Given the description of an element on the screen output the (x, y) to click on. 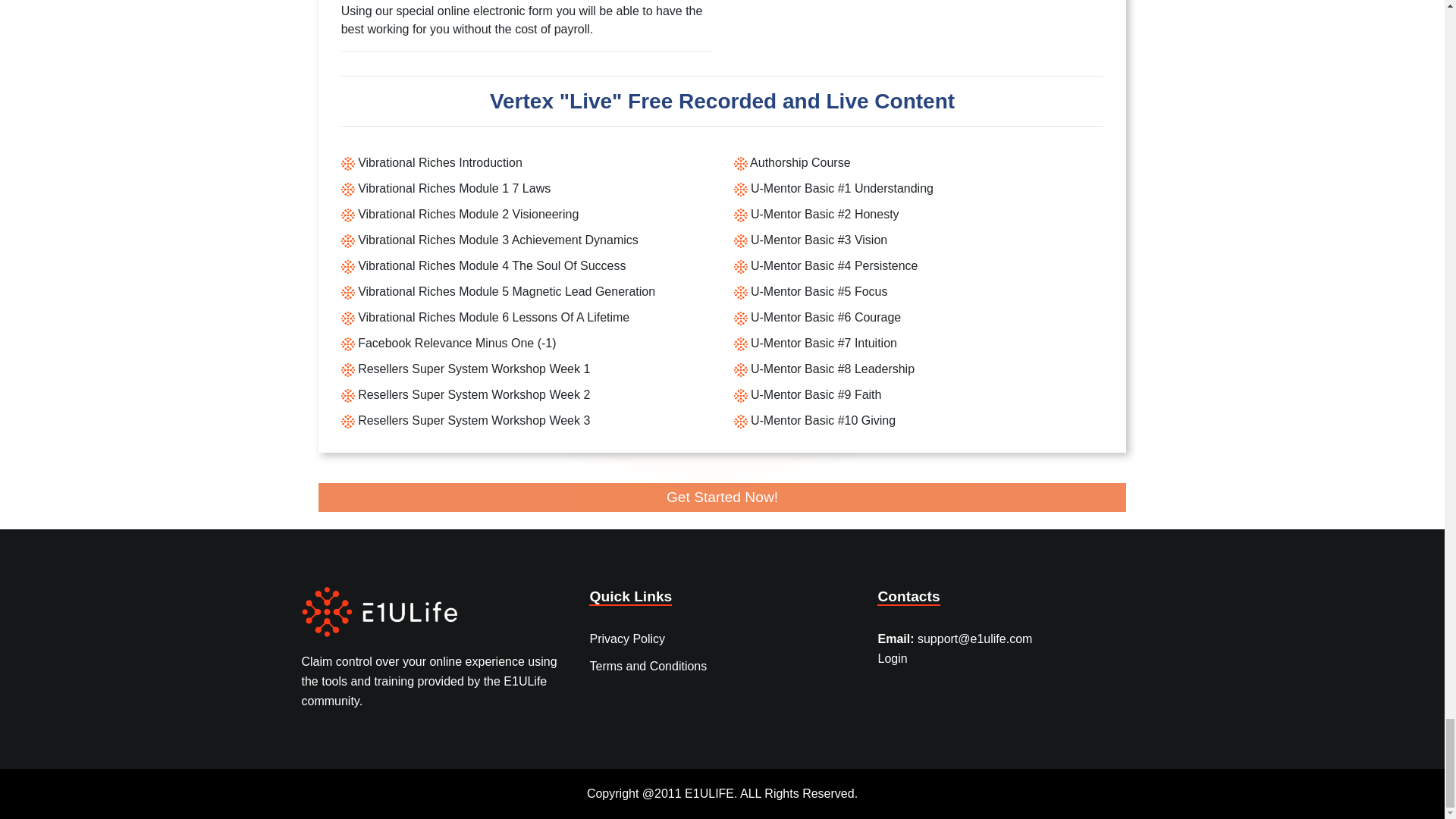
Privacy Policy (627, 638)
Get Started Now! (722, 497)
Terms and Conditions (647, 666)
Login (892, 654)
